Given the description of an element on the screen output the (x, y) to click on. 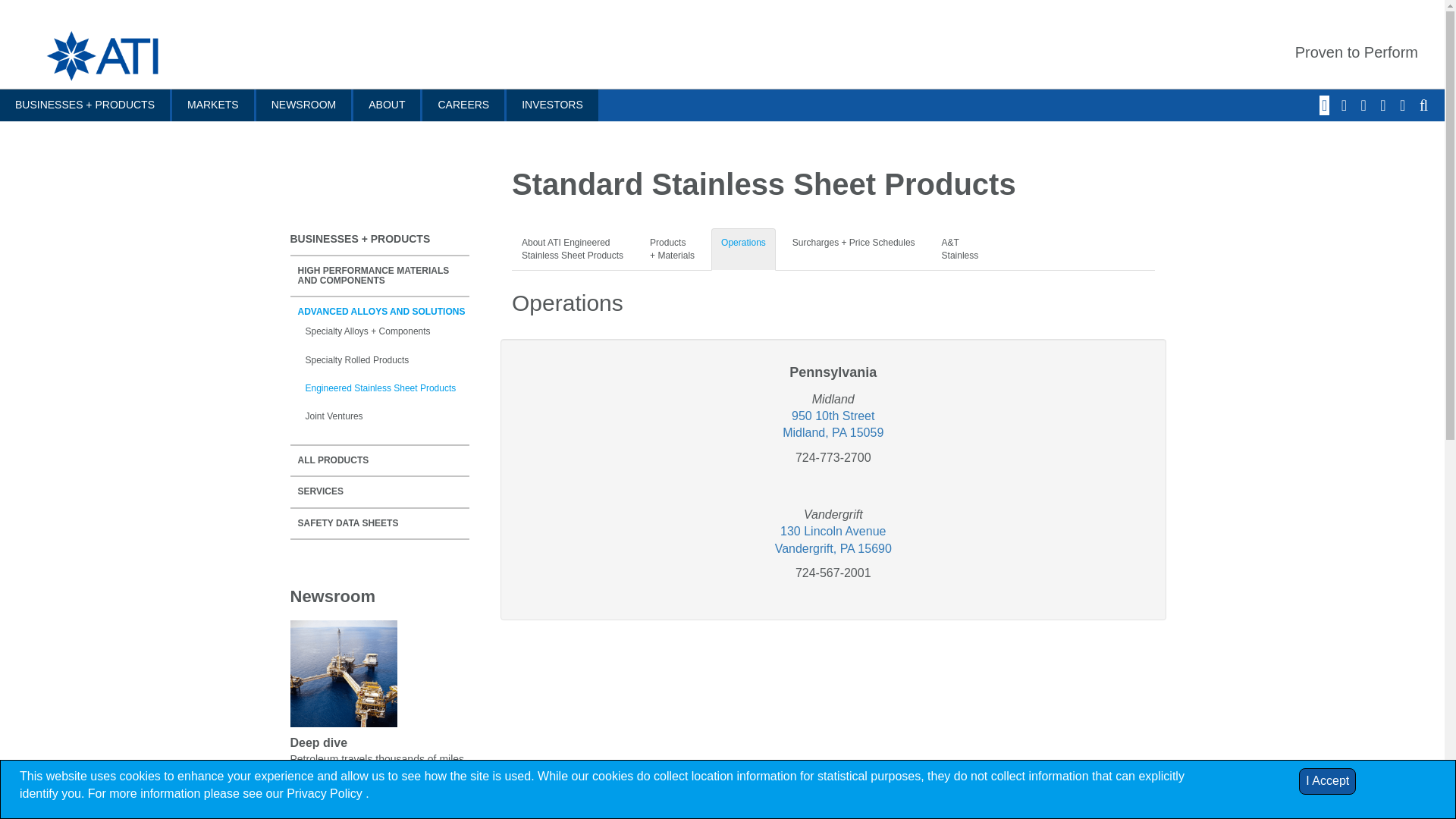
Select Language (1403, 106)
